Given the description of an element on the screen output the (x, y) to click on. 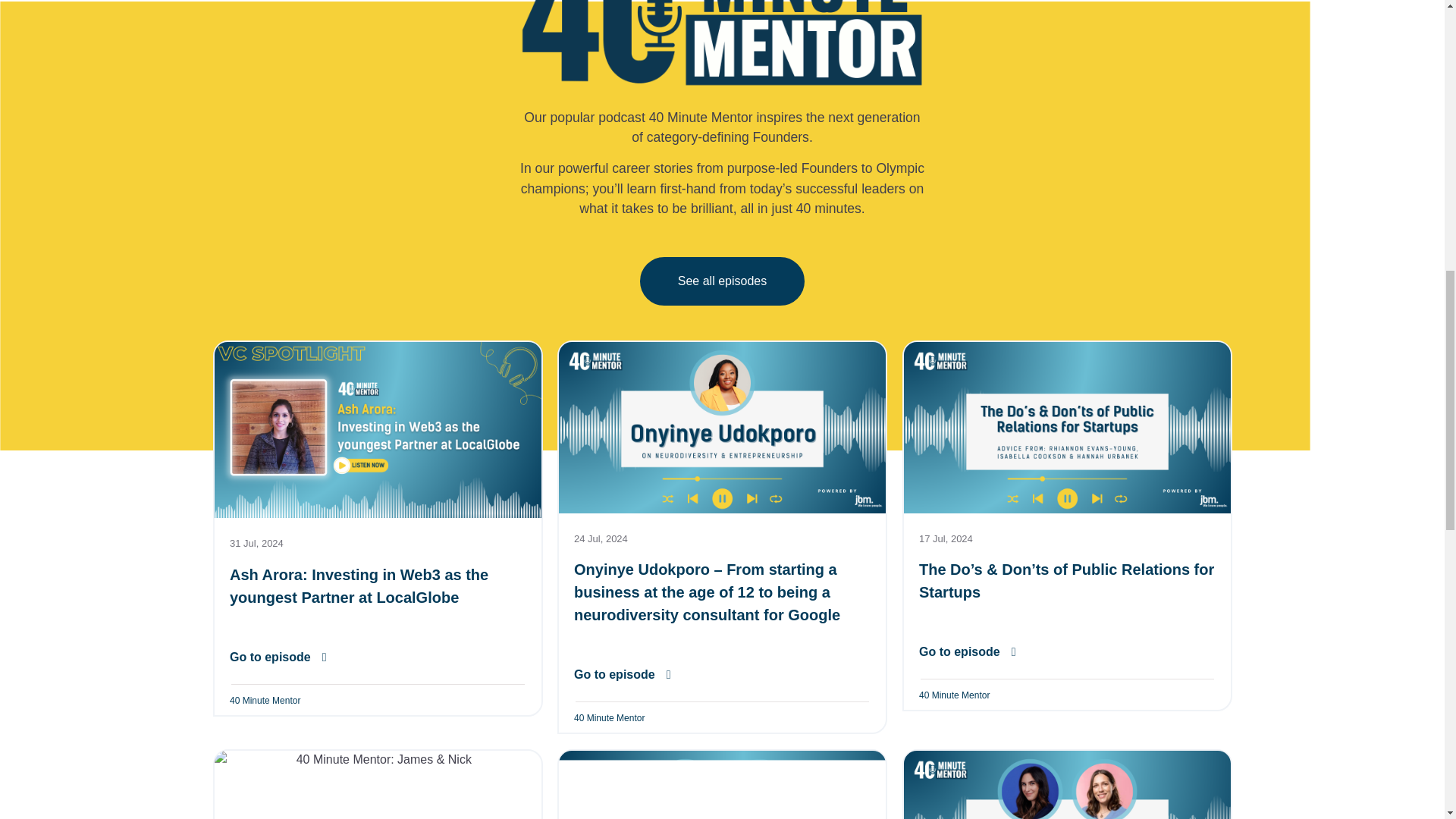
Go to episode (622, 674)
40 Minute Mentor (954, 694)
See all episodes (722, 281)
40 Minute Mentor (263, 699)
Go to episode (277, 656)
Go to episode (967, 652)
40 Minute Mentor (609, 717)
